Given the description of an element on the screen output the (x, y) to click on. 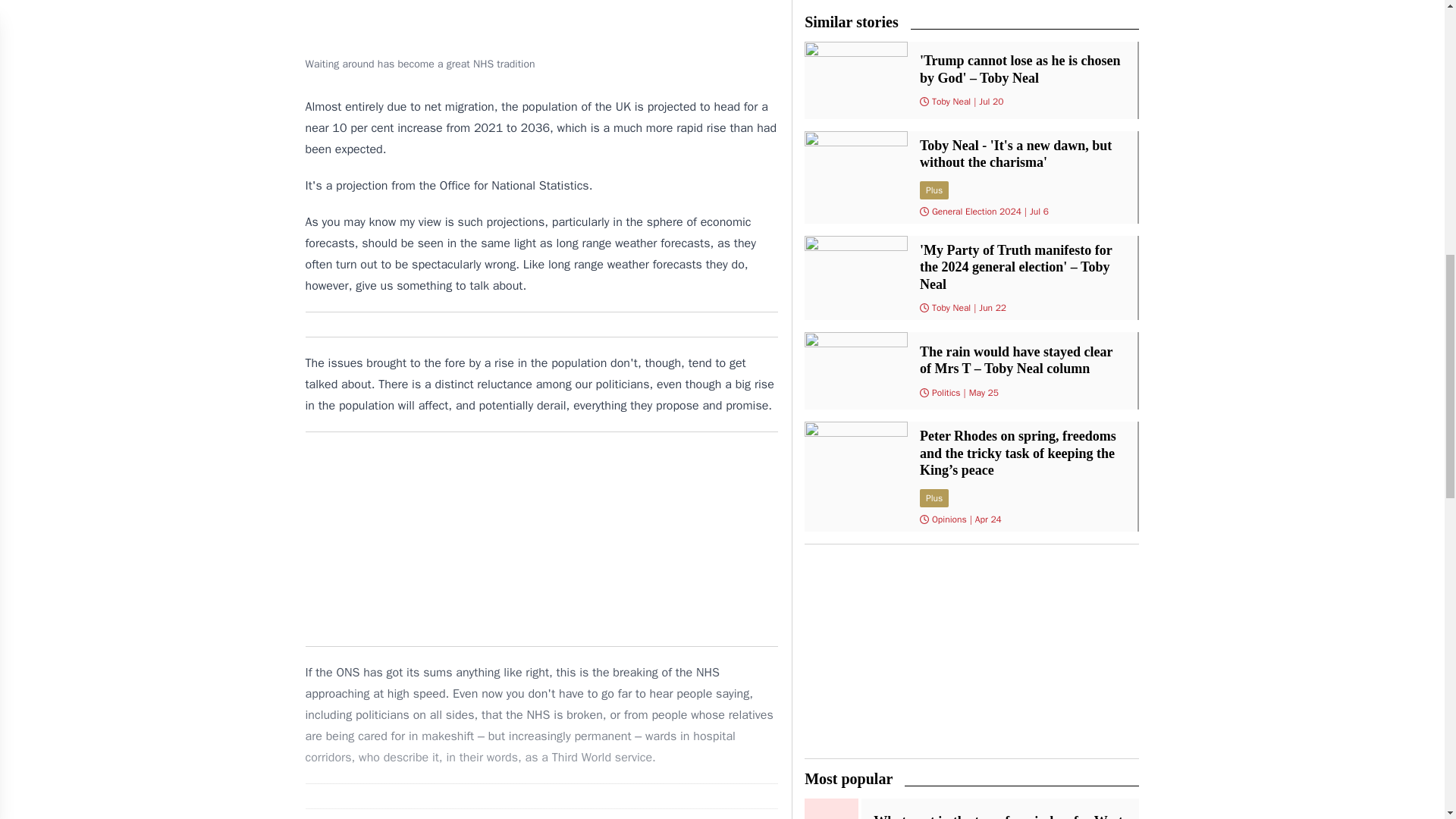
Toby Neal (951, 307)
General Election 2024 (976, 211)
Politics (945, 392)
Toby Neal (951, 101)
Opinions (948, 519)
